Given the description of an element on the screen output the (x, y) to click on. 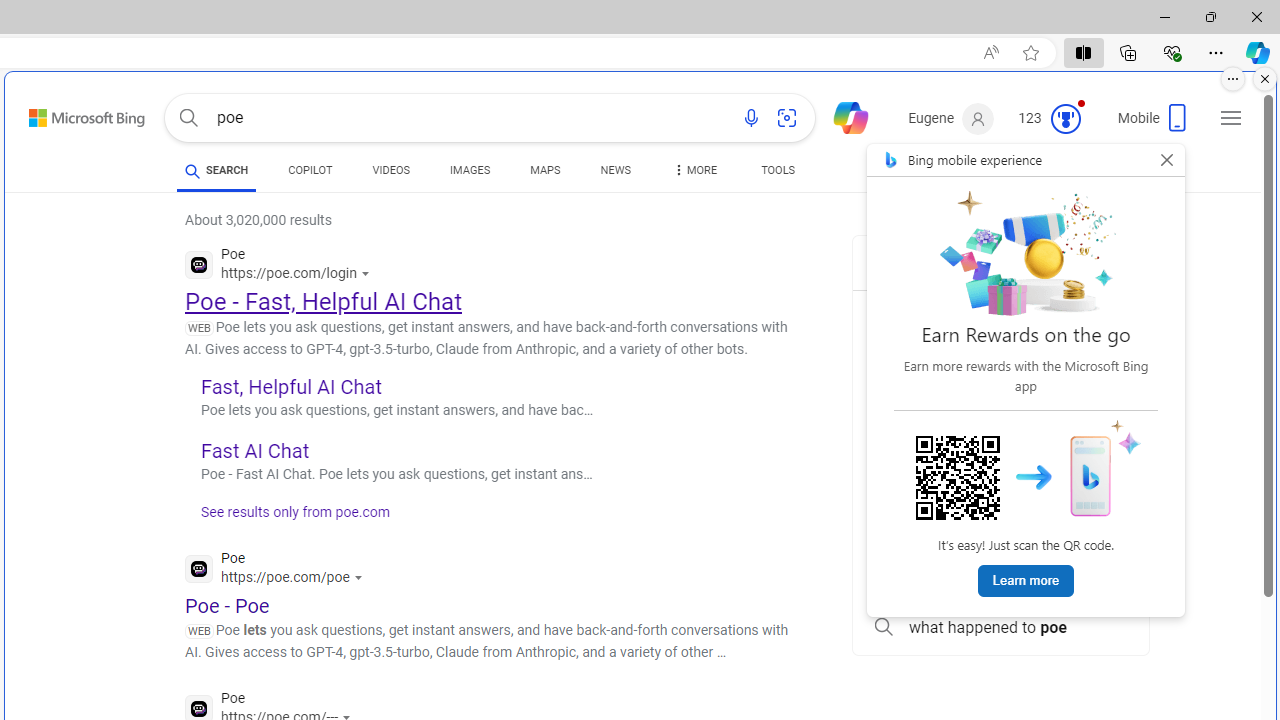
Actions for this site (360, 577)
Class: medal-circled (1065, 118)
Eugene (950, 119)
Poe (278, 569)
Dropdown Menu (693, 170)
poe chat (1000, 402)
Global web icon (198, 708)
SEARCH (216, 170)
